Given the description of an element on the screen output the (x, y) to click on. 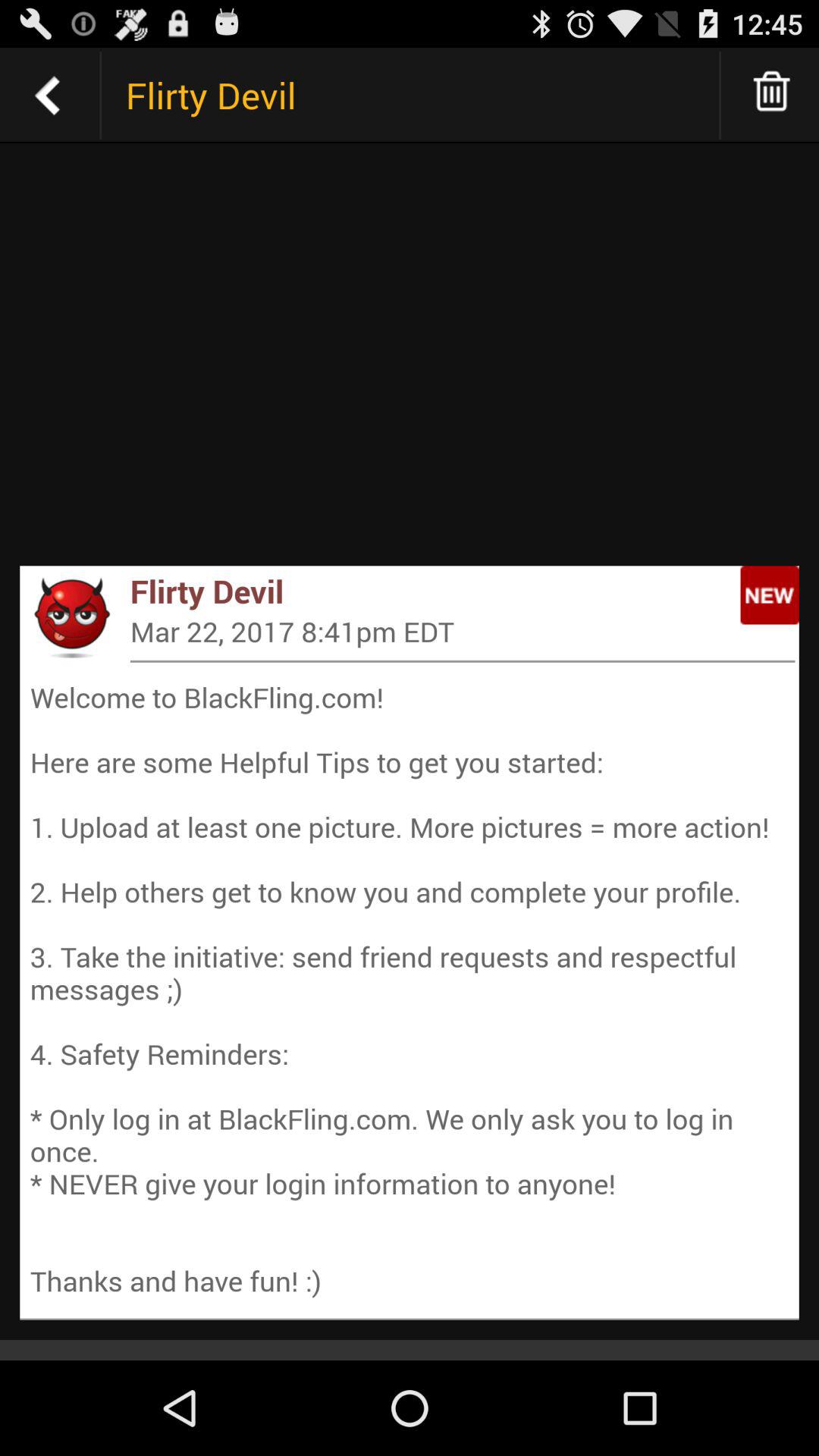
launch item below flirty devil app (462, 631)
